Given the description of an element on the screen output the (x, y) to click on. 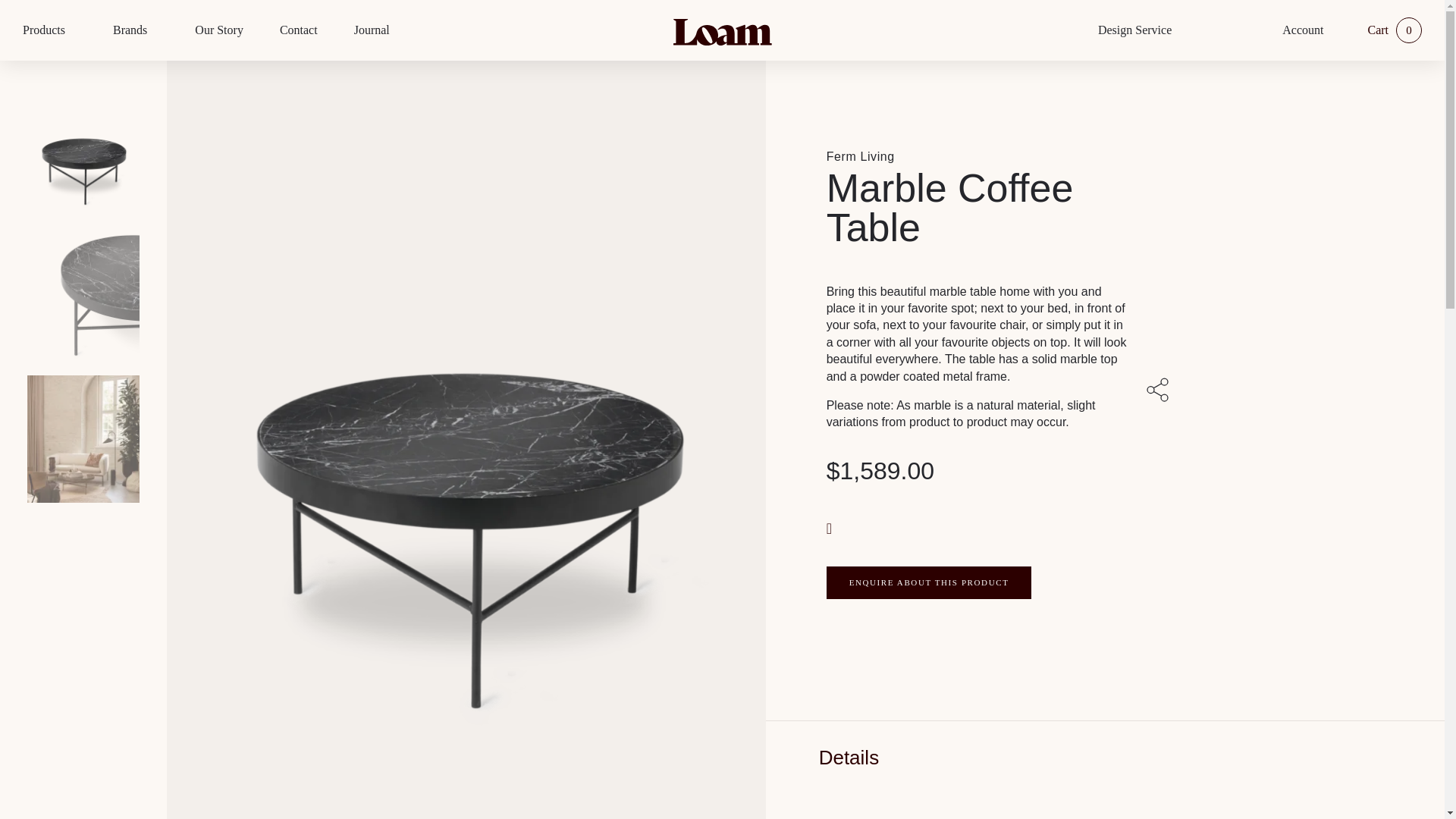
Toggle Menu (72, 29)
